Given the description of an element on the screen output the (x, y) to click on. 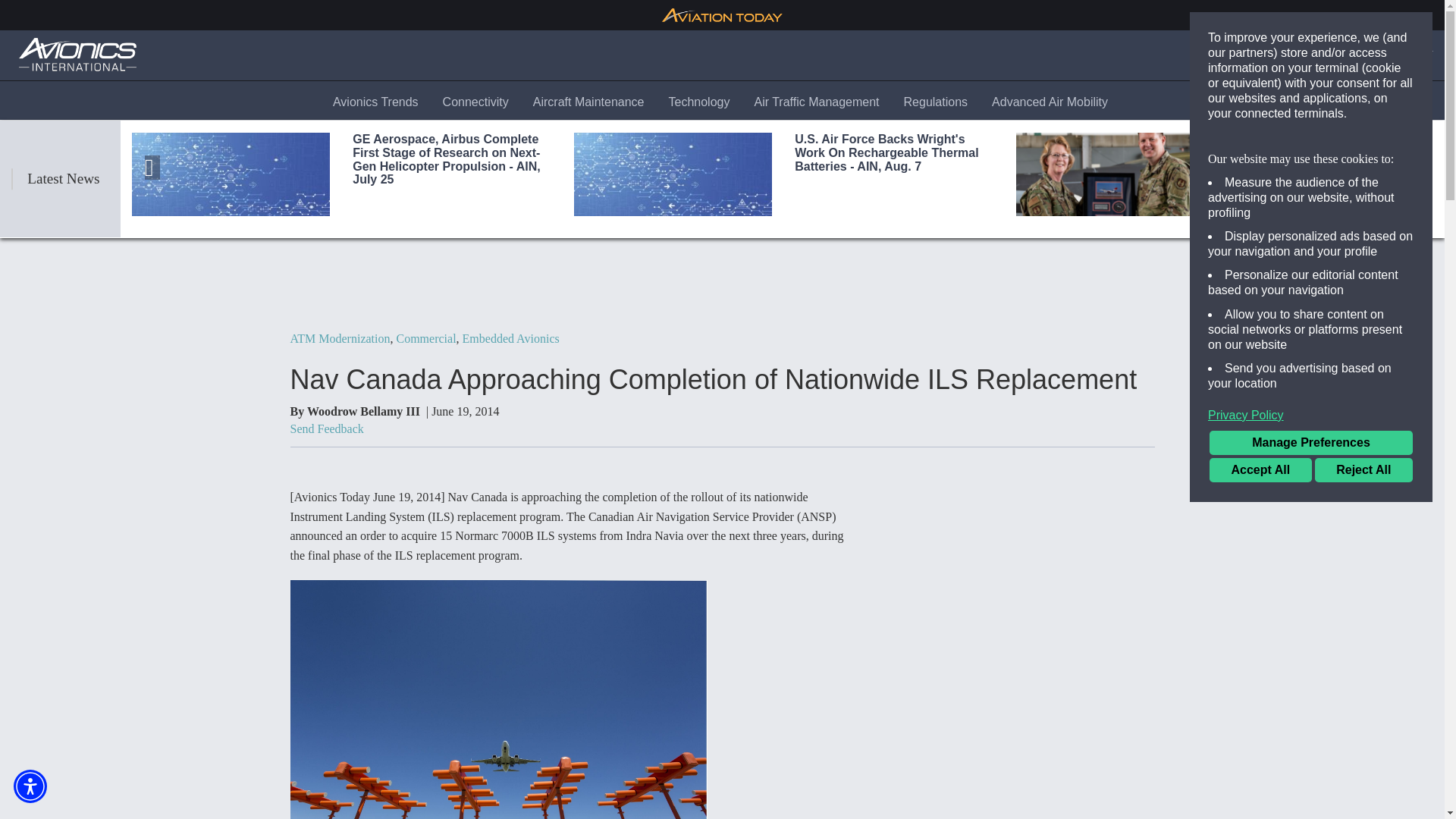
Reject All (1363, 469)
3rd party ad content (1017, 554)
Accessibility Menu (29, 786)
Accept All (1260, 469)
Privacy Policy (1310, 415)
Search (1274, 55)
Manage Preferences (1310, 442)
Subscribe (1342, 55)
3rd party ad content (722, 284)
